Given the description of an element on the screen output the (x, y) to click on. 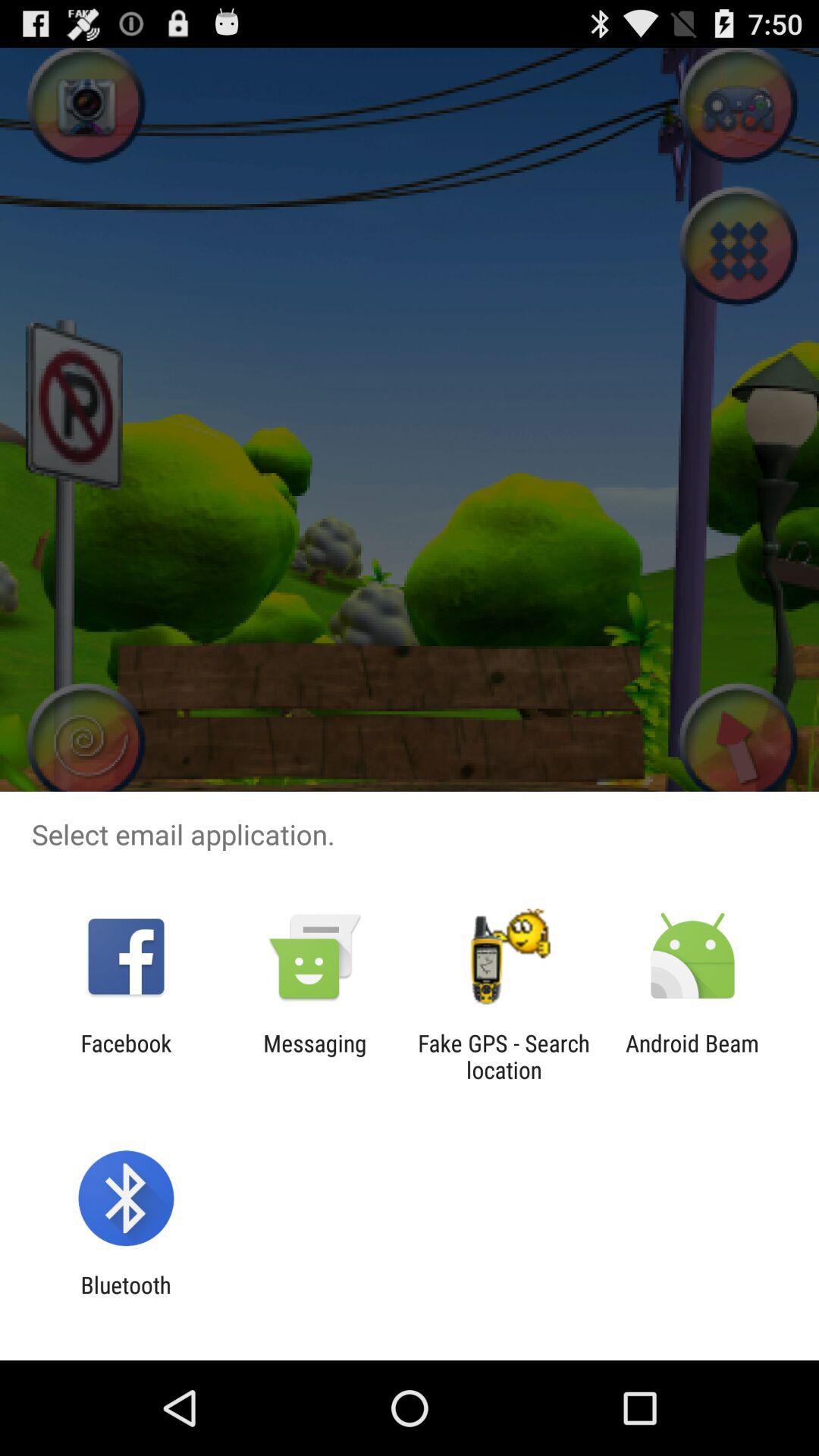
click the facebook (125, 1056)
